Given the description of an element on the screen output the (x, y) to click on. 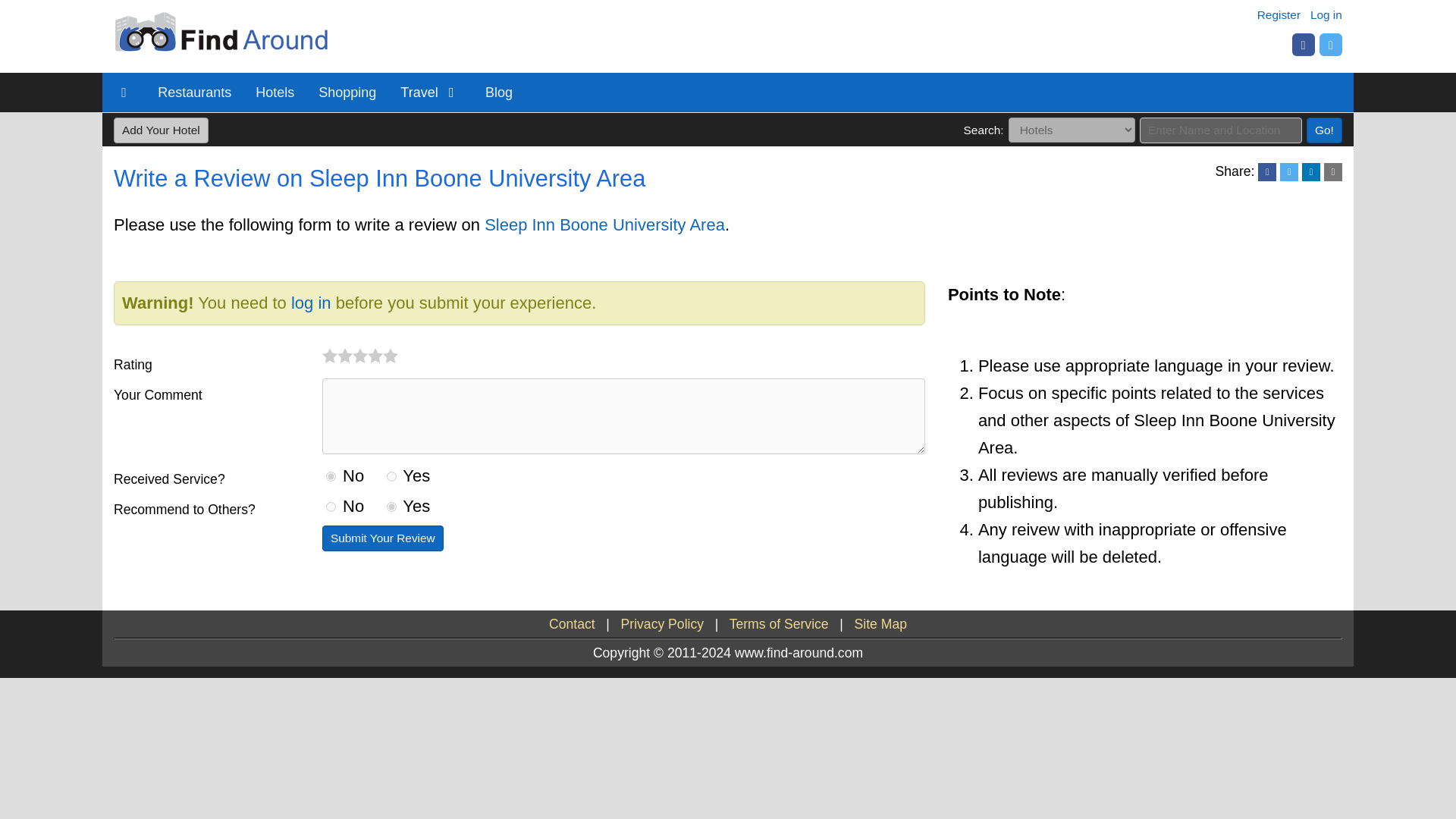
Hotels (274, 92)
Blog (498, 92)
Home page (123, 92)
True (391, 476)
False (331, 506)
Terms of Service (778, 623)
Log in (1326, 14)
Travel (430, 92)
Privacy Policy (662, 623)
Go! (1324, 130)
Terms of services (778, 623)
www.find-around.com (224, 58)
log in (311, 302)
Contact (571, 623)
Blog (498, 92)
